Given the description of an element on the screen output the (x, y) to click on. 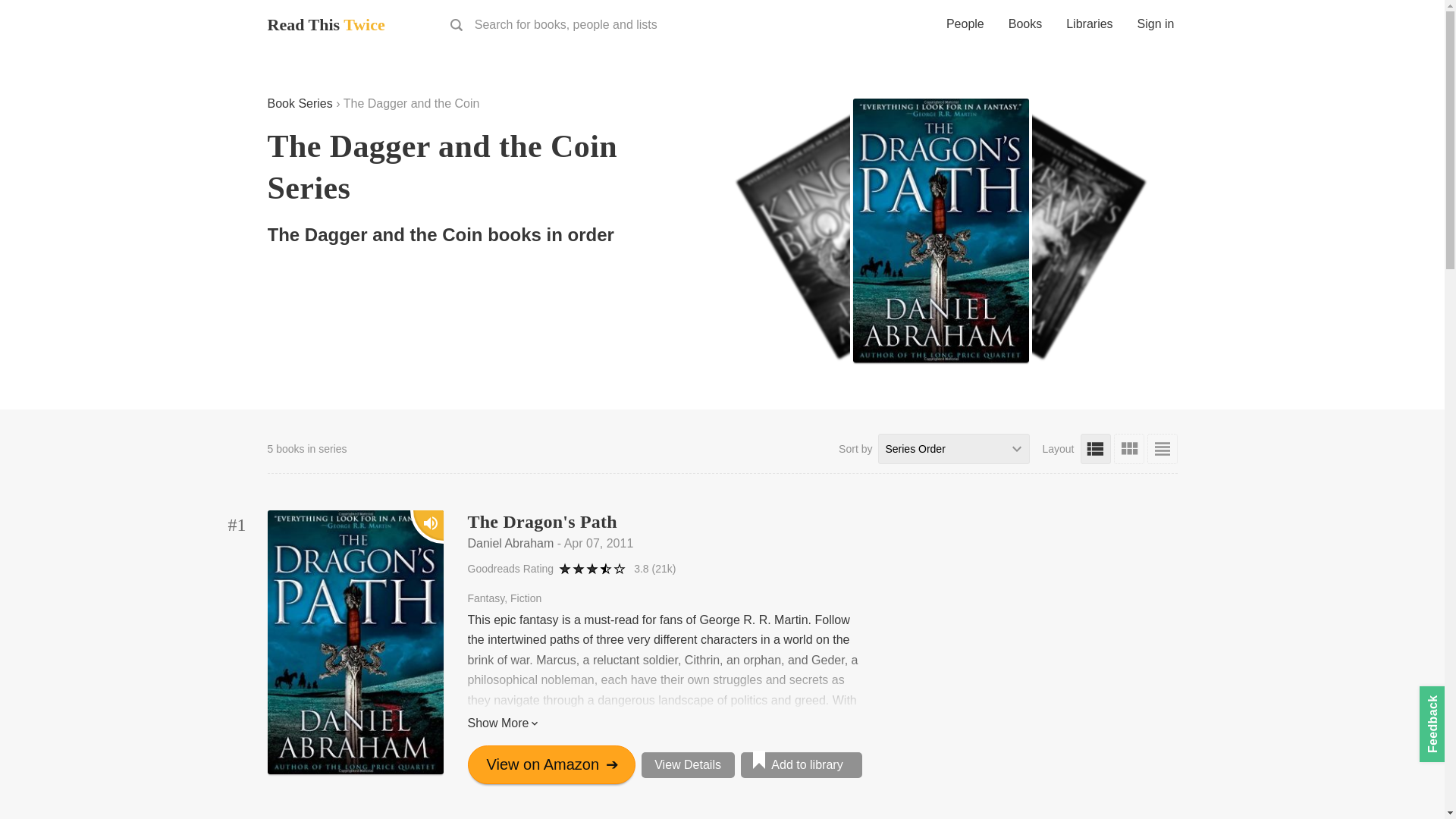
Goodreads reviews (654, 568)
The Dragon's Path (541, 521)
Read This Twice (325, 24)
Book Series (298, 103)
Book 1 (236, 525)
Add to library (800, 765)
Fantasy (489, 598)
Books (1025, 25)
People (965, 25)
Fiction (526, 598)
